Given the description of an element on the screen output the (x, y) to click on. 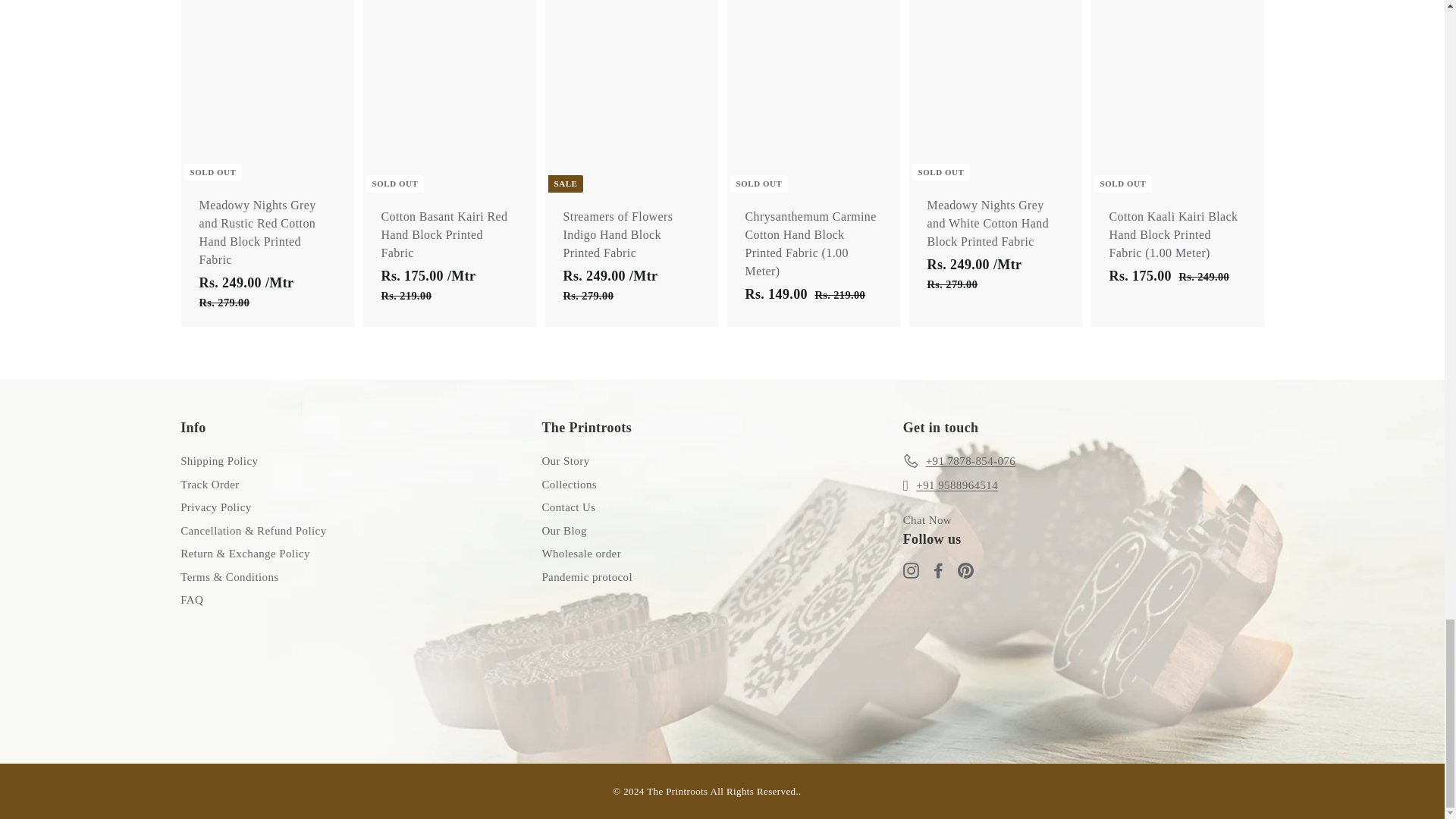
The Printroots on Instagram (910, 569)
